Given the description of an element on the screen output the (x, y) to click on. 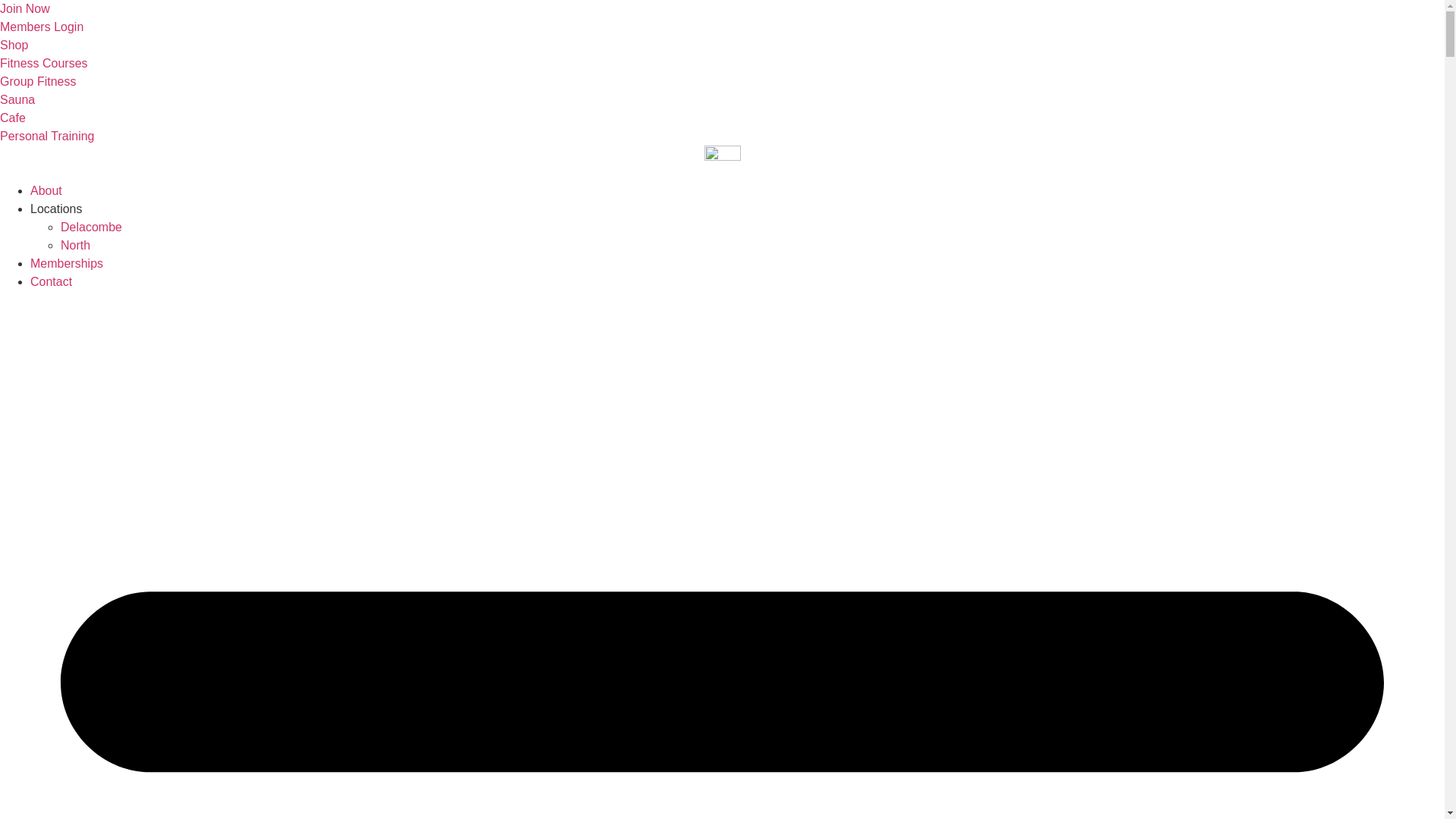
Locations Element type: text (56, 208)
Group Fitness Element type: text (37, 81)
Sauna Element type: text (17, 99)
Memberships Element type: text (66, 263)
Contact Element type: text (51, 281)
Shop Element type: text (14, 44)
Cafe Element type: text (12, 117)
Delacombe Element type: text (91, 226)
Fitness Courses Element type: text (43, 62)
Join Now Element type: text (25, 8)
North Element type: text (75, 244)
Members Login Element type: text (41, 26)
About Element type: text (46, 190)
Personal Training Element type: text (47, 135)
